Given the description of an element on the screen output the (x, y) to click on. 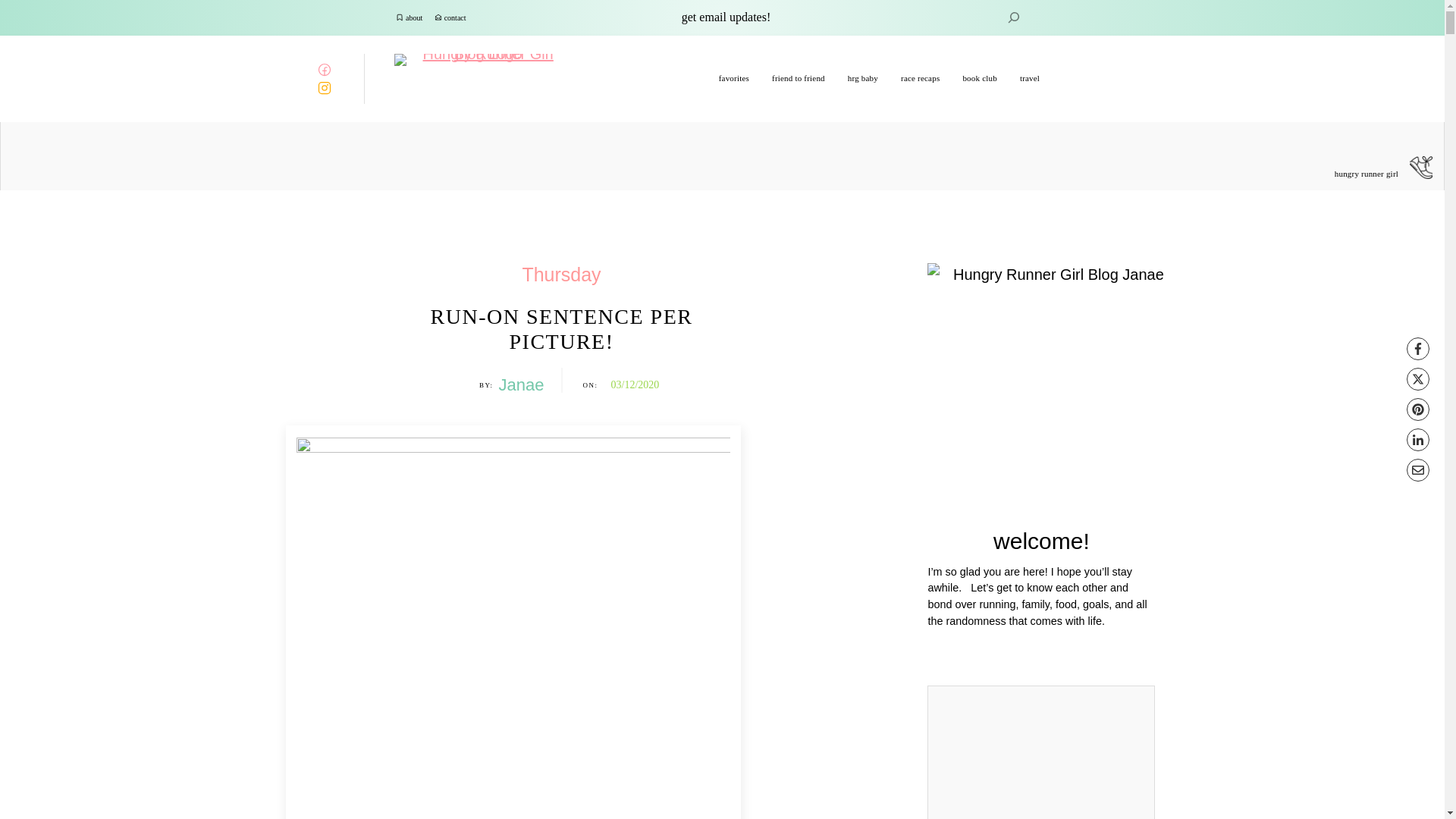
hrg baby (862, 77)
race recaps (920, 77)
travel (1029, 77)
book club (979, 77)
friend to friend (798, 77)
about (414, 17)
favorites (734, 77)
get email updates! (726, 16)
contact (454, 17)
